Given the description of an element on the screen output the (x, y) to click on. 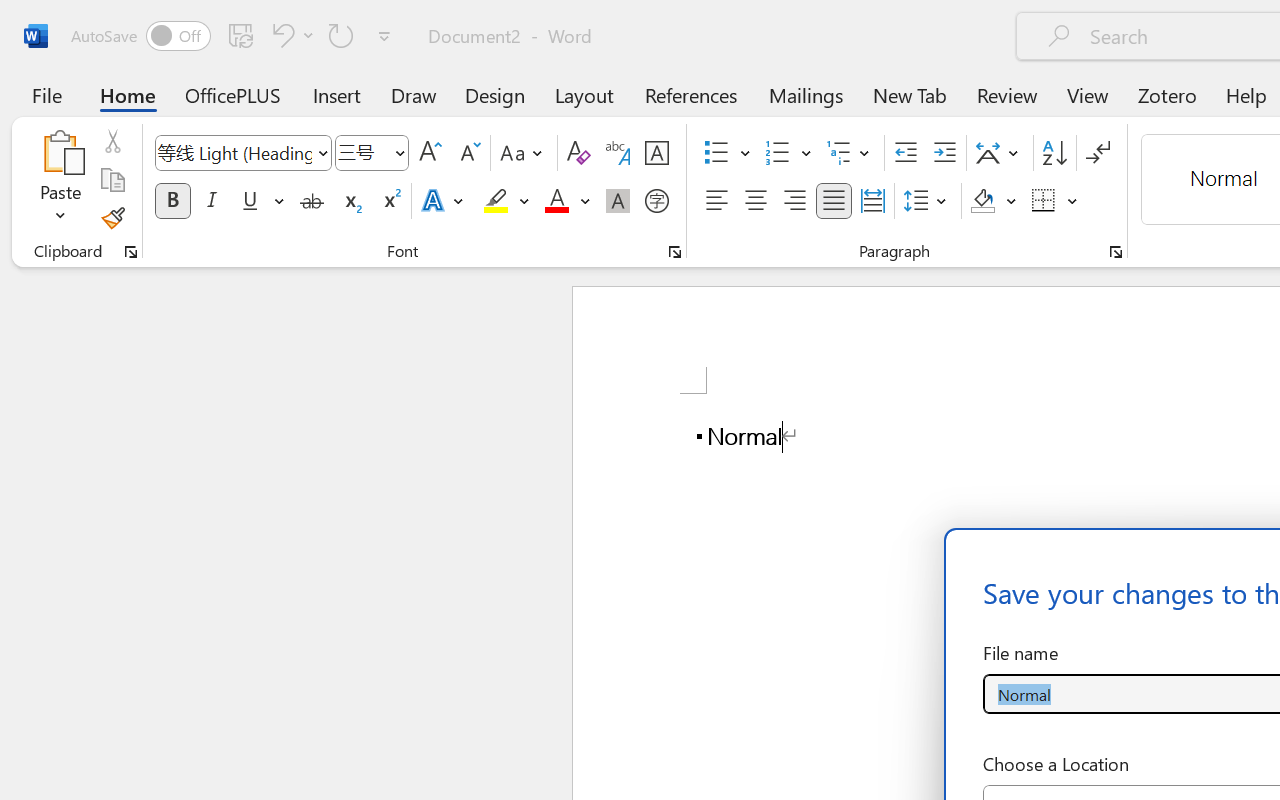
Insert (337, 94)
Strikethrough (312, 201)
Decrease Indent (906, 153)
Zotero (1166, 94)
Undo Typing (290, 35)
Font Color Red (556, 201)
Enclose Characters... (656, 201)
Cut (112, 141)
Font (234, 152)
Bullets (727, 153)
References (690, 94)
AutoSave (140, 35)
Distributed (872, 201)
Subscript (350, 201)
